Given the description of an element on the screen output the (x, y) to click on. 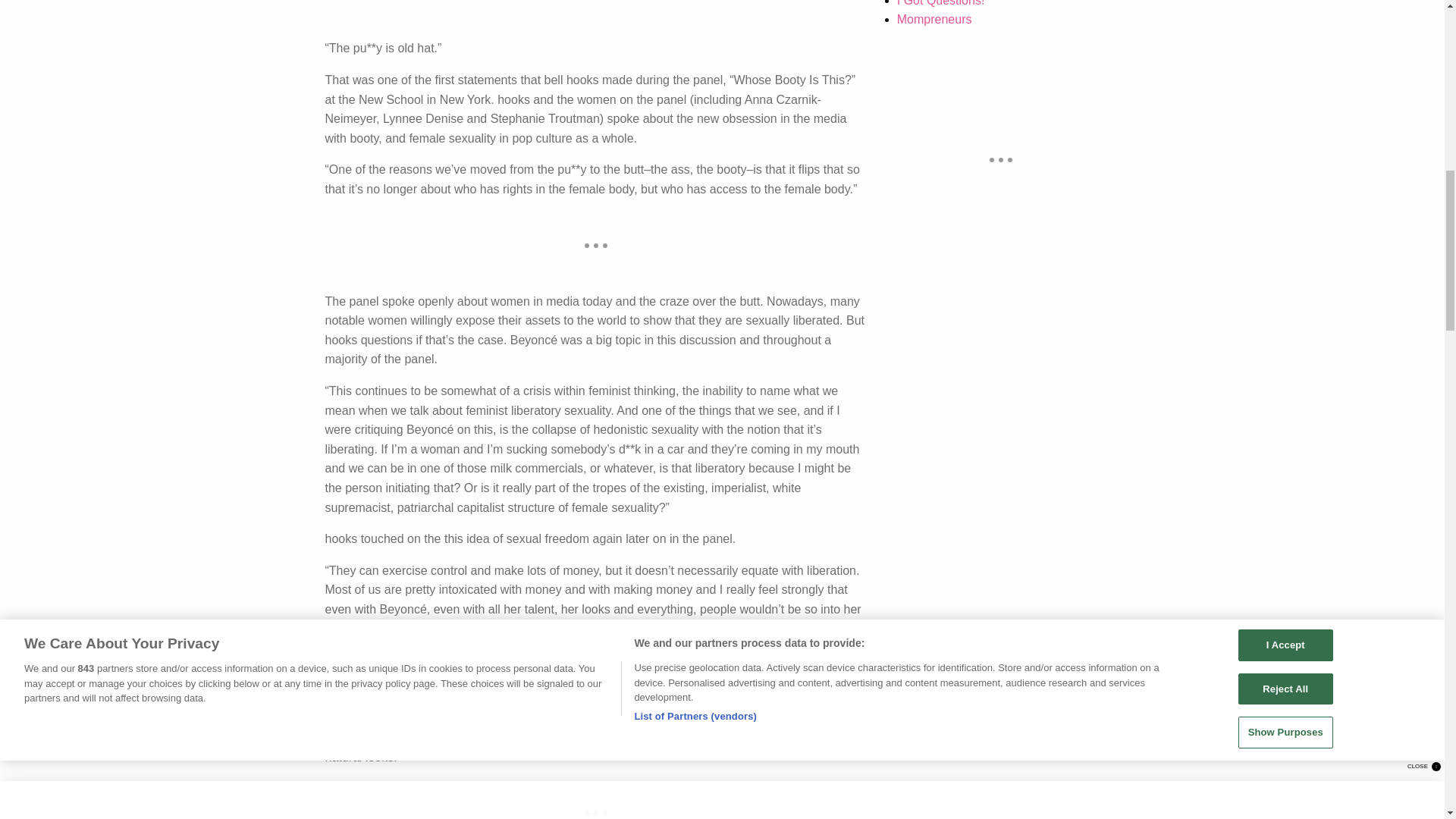
I Got Questions! (940, 3)
Mompreneurs (934, 19)
